Given the description of an element on the screen output the (x, y) to click on. 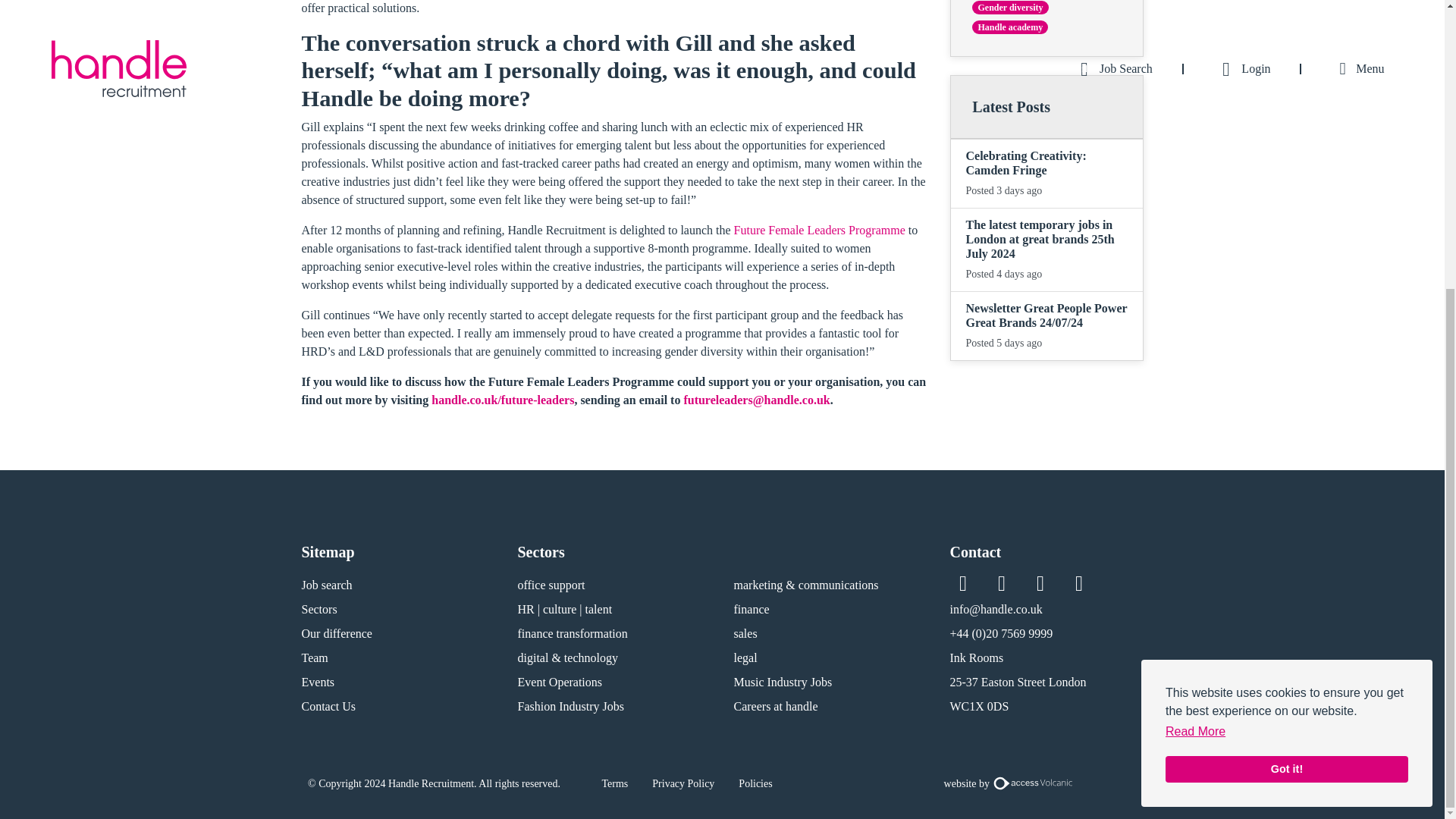
Read More (1195, 293)
Gender diversity (1010, 7)
Got it! (1286, 330)
Handle academy (1010, 27)
Future Female Leaders Programme (819, 229)
